Given the description of an element on the screen output the (x, y) to click on. 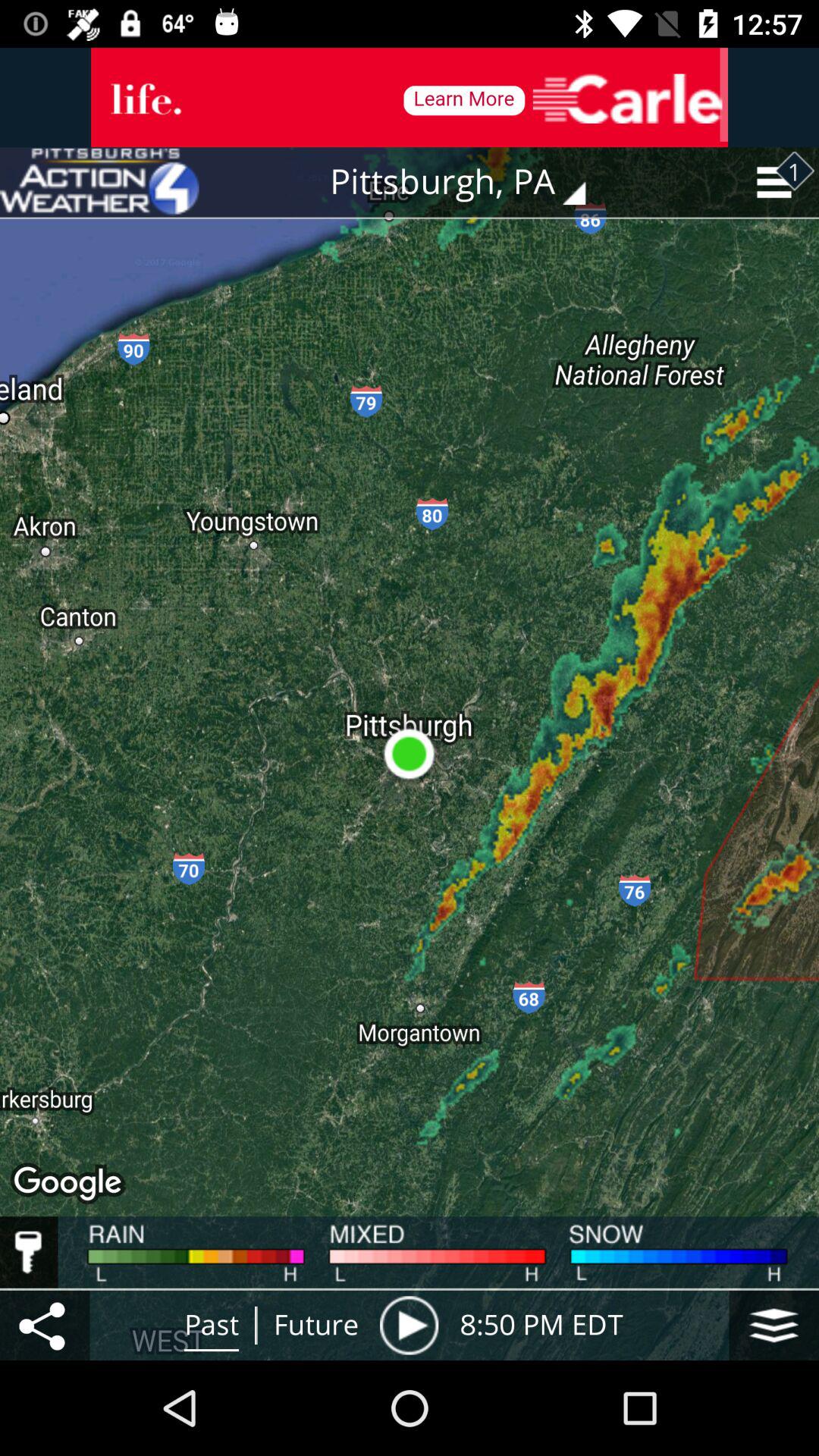
click icon next to the future (409, 1325)
